Given the description of an element on the screen output the (x, y) to click on. 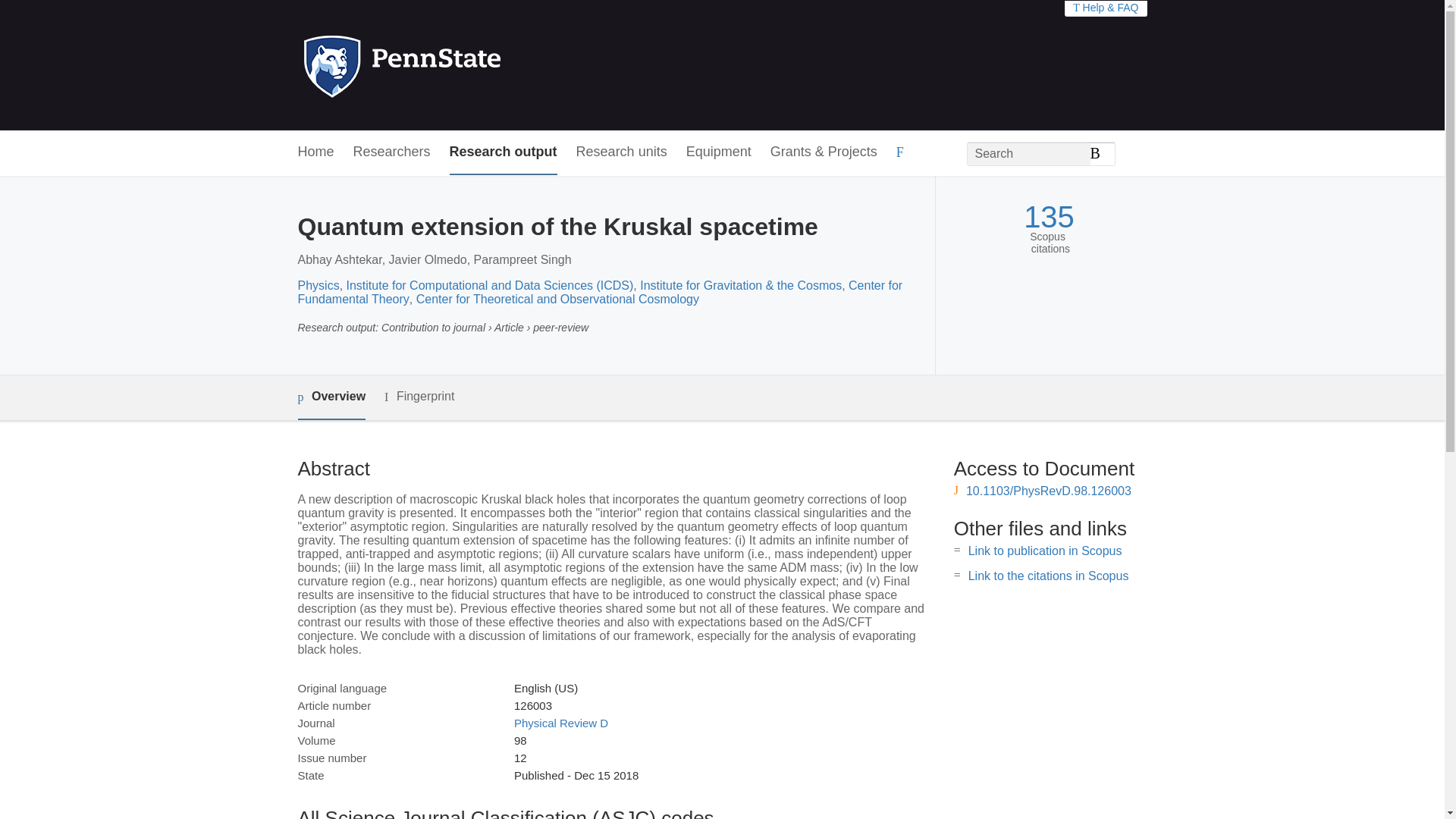
Researchers (391, 152)
Physical Review D (560, 722)
Home (315, 152)
Link to publication in Scopus (1045, 550)
Equipment (718, 152)
Center for Theoretical and Observational Cosmology (557, 298)
Penn State Home (467, 65)
Research units (621, 152)
Center for Fundamental Theory (599, 292)
Research output (503, 152)
Link to the citations in Scopus (1048, 575)
135 (1048, 216)
Fingerprint (419, 396)
Overview (331, 397)
